Given the description of an element on the screen output the (x, y) to click on. 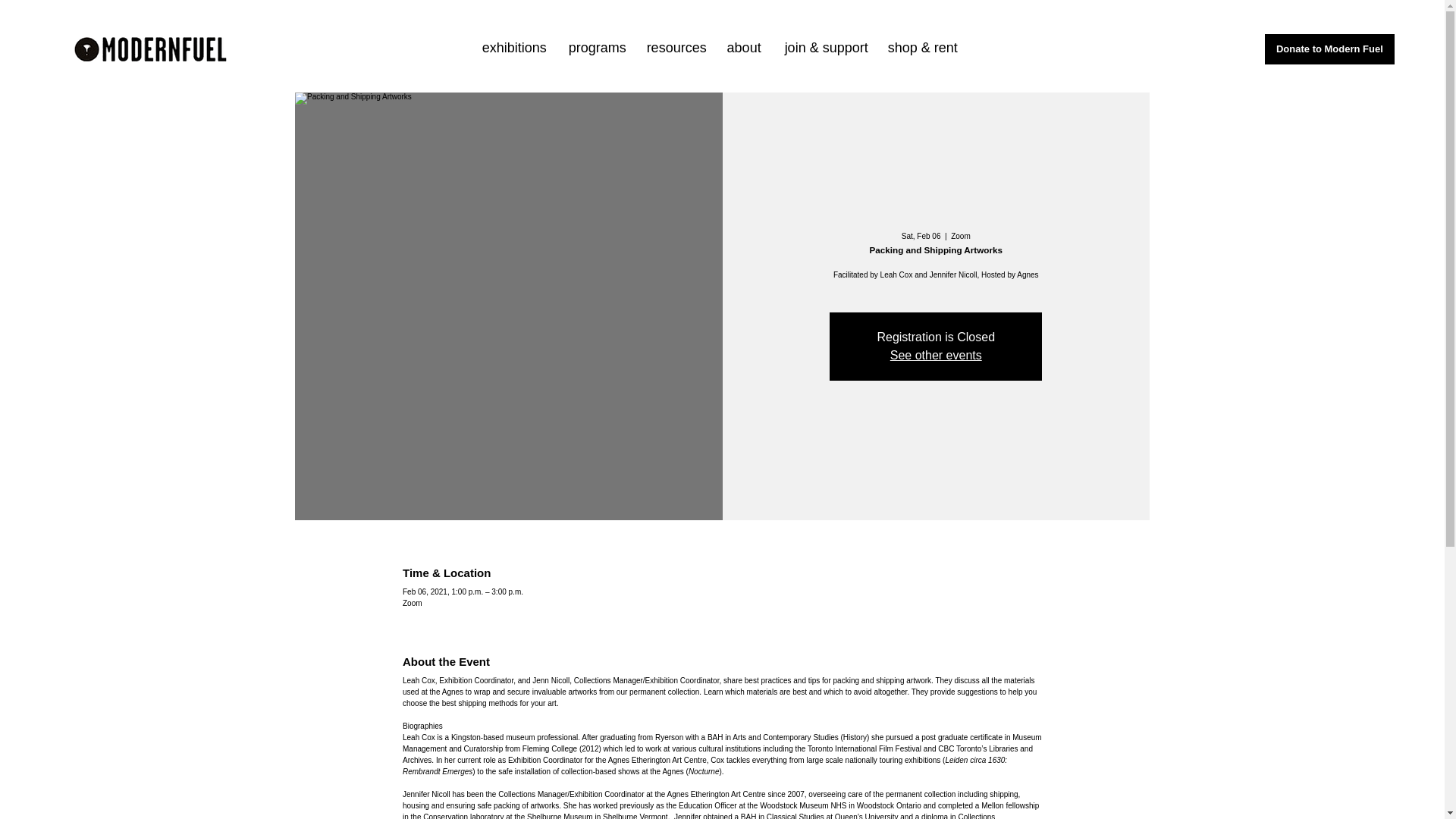
Donate to Modern Fuel (1329, 49)
See other events (935, 354)
